Given the description of an element on the screen output the (x, y) to click on. 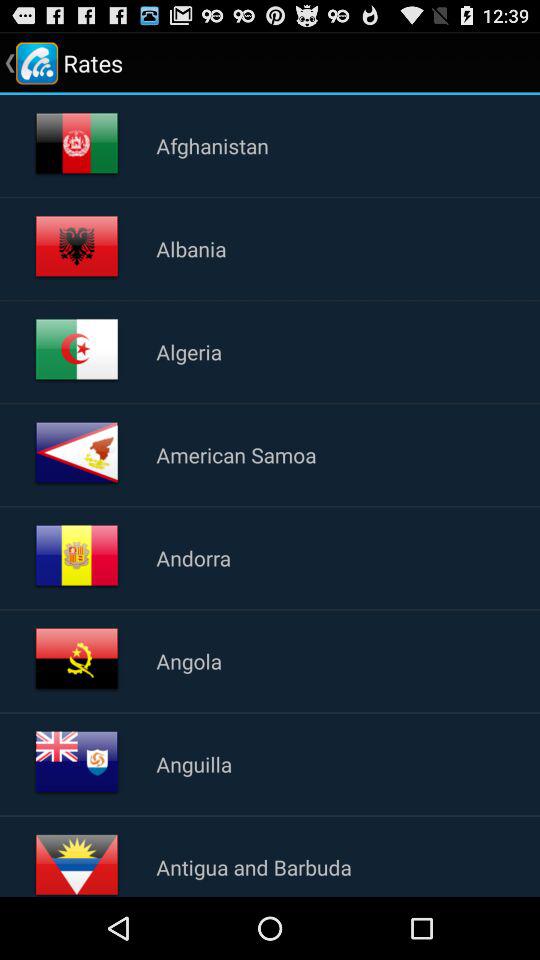
launch the antigua and barbuda icon (253, 867)
